Given the description of an element on the screen output the (x, y) to click on. 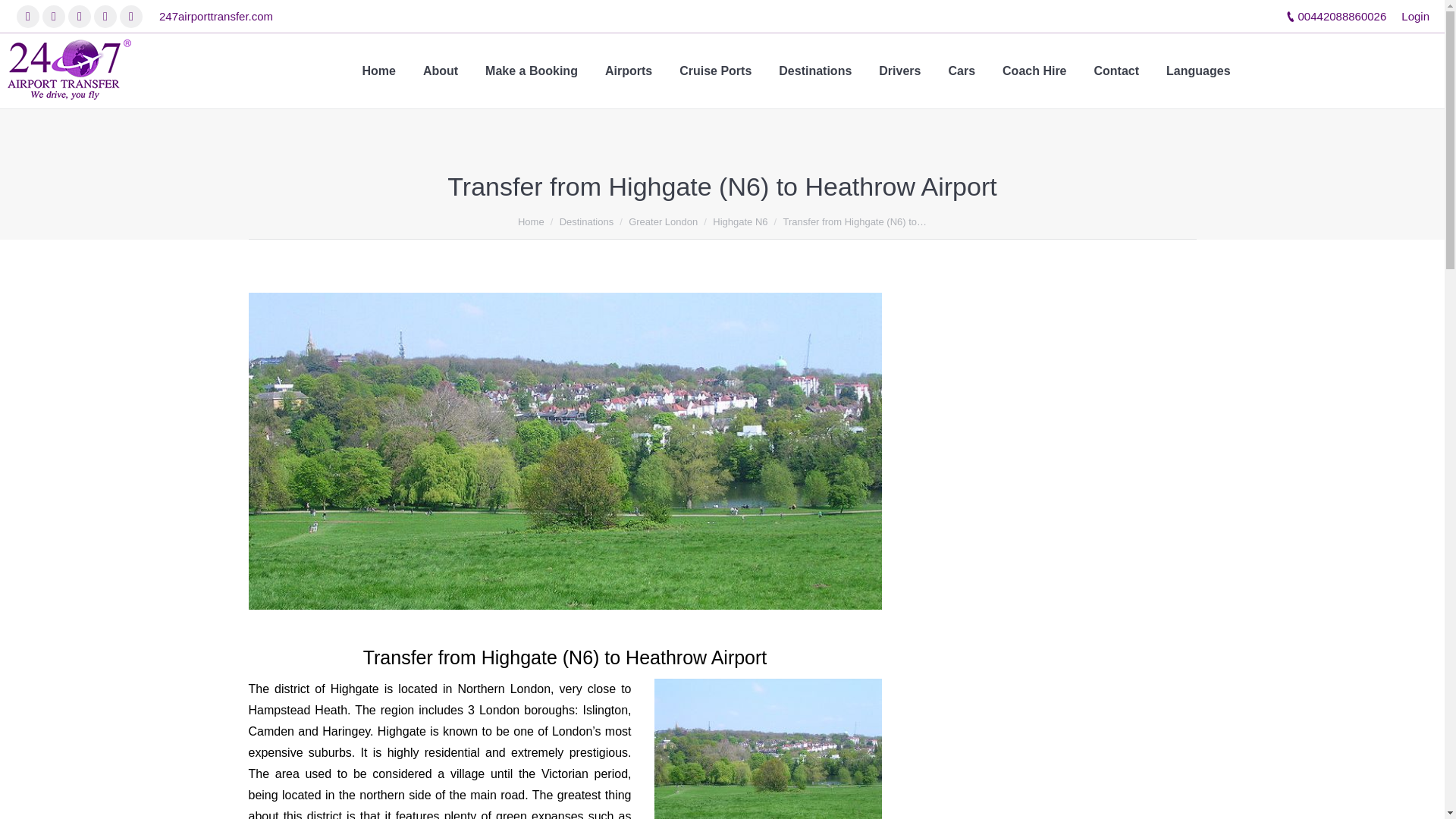
Website (130, 15)
London Heathrow Taxi from Highgate (766, 748)
Make a Booking (530, 71)
YouTube (105, 15)
Cruise Ports (715, 71)
Website (130, 15)
Instagram (79, 15)
00442088860026 (1342, 15)
Facebook (27, 15)
Twitter (53, 15)
Destinations (815, 71)
247airporttransfer.com (215, 15)
Facebook (27, 15)
Login (1414, 15)
